Given the description of an element on the screen output the (x, y) to click on. 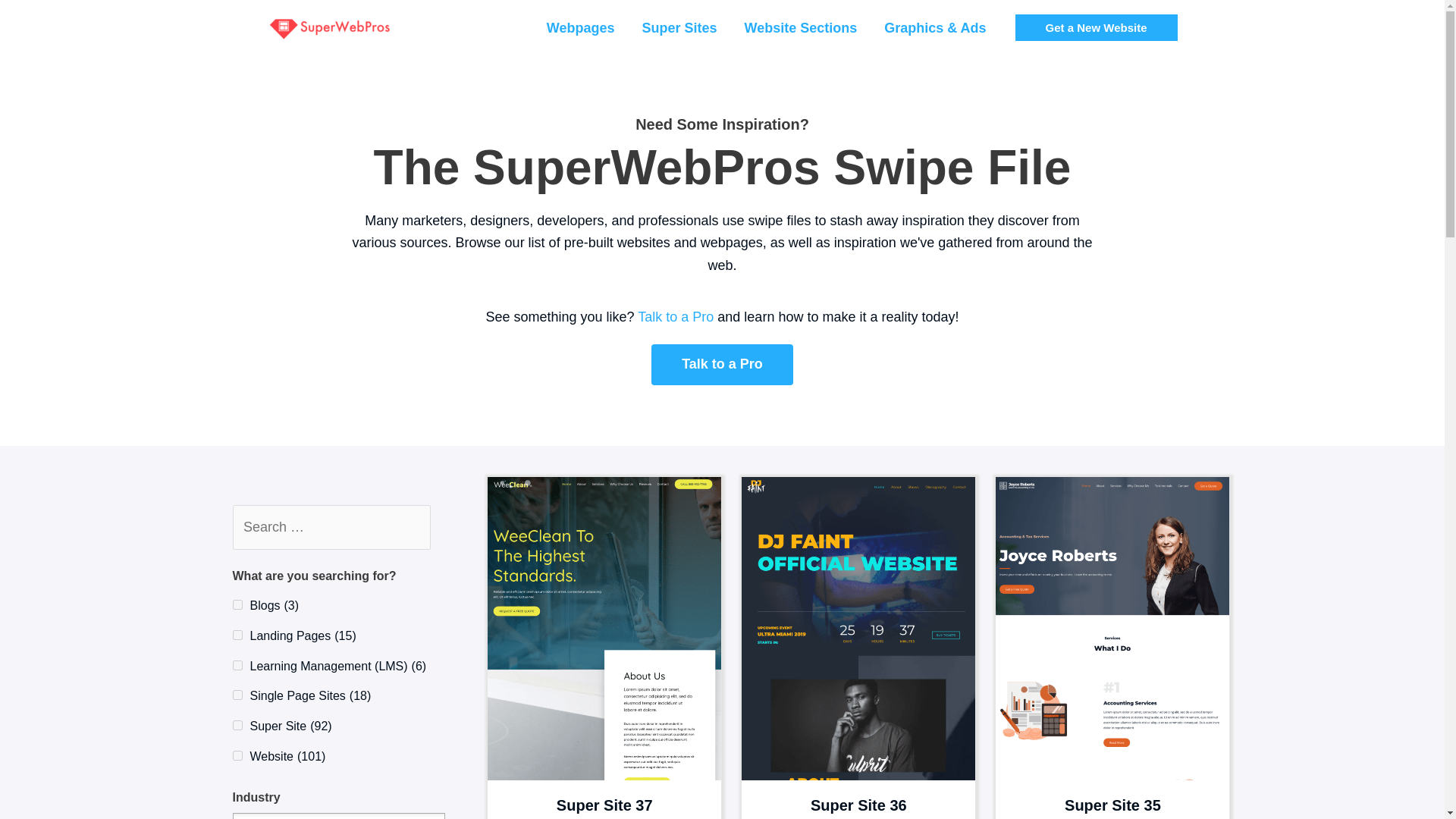
Super Site 35 (1112, 805)
landing-pages (236, 634)
websites (236, 755)
Super Site 36 (858, 670)
Super Site 35 (1111, 670)
Webpages (580, 27)
learning-management-systems (236, 665)
blogs (236, 604)
super-site (236, 725)
Super Site 37 (603, 670)
Click Here (721, 363)
Super Site 36 (858, 805)
Super Site 37 (604, 805)
Website Sections (800, 27)
Get a New Website (1095, 27)
